Given the description of an element on the screen output the (x, y) to click on. 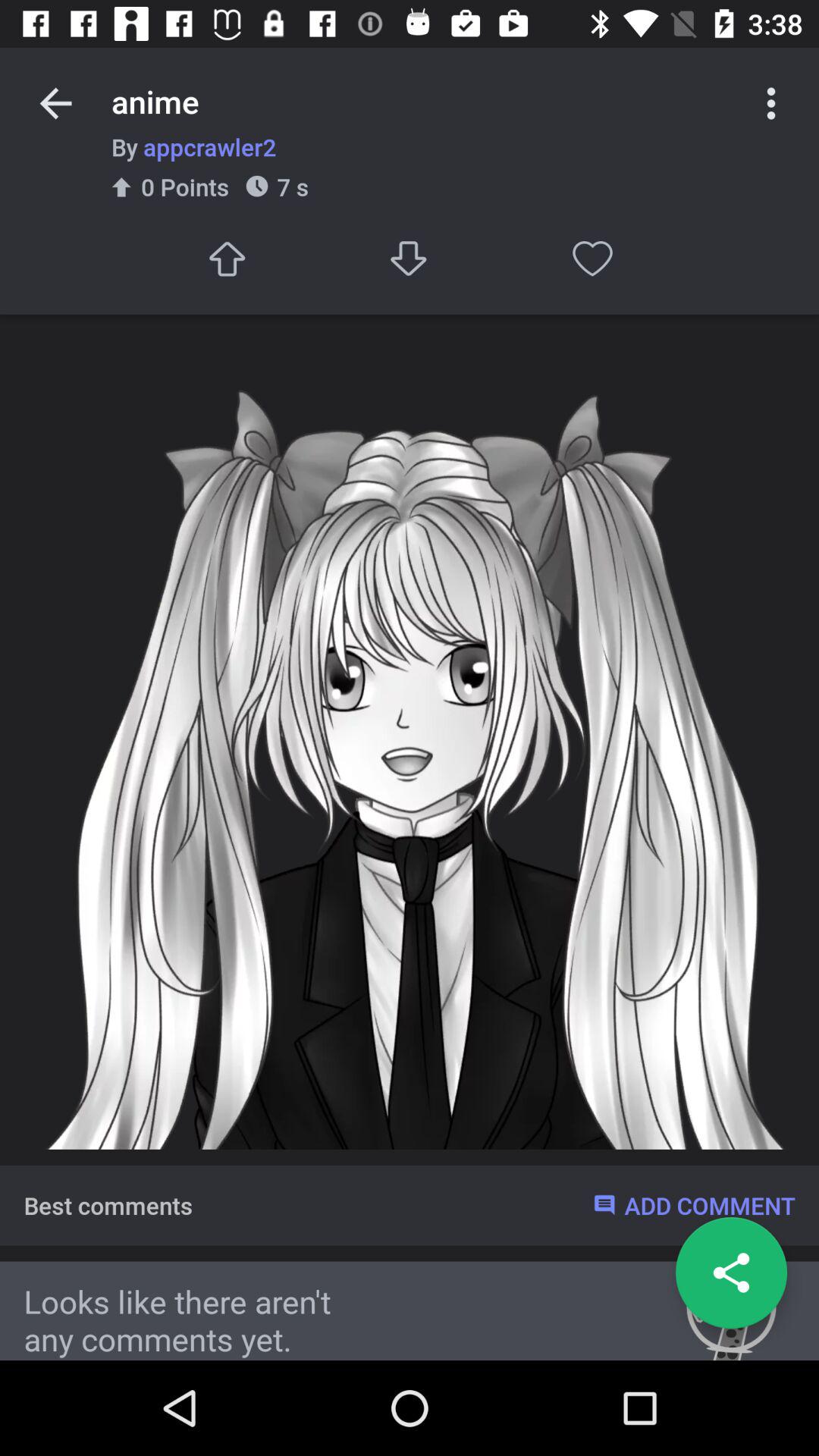
like the item (592, 258)
